Given the description of an element on the screen output the (x, y) to click on. 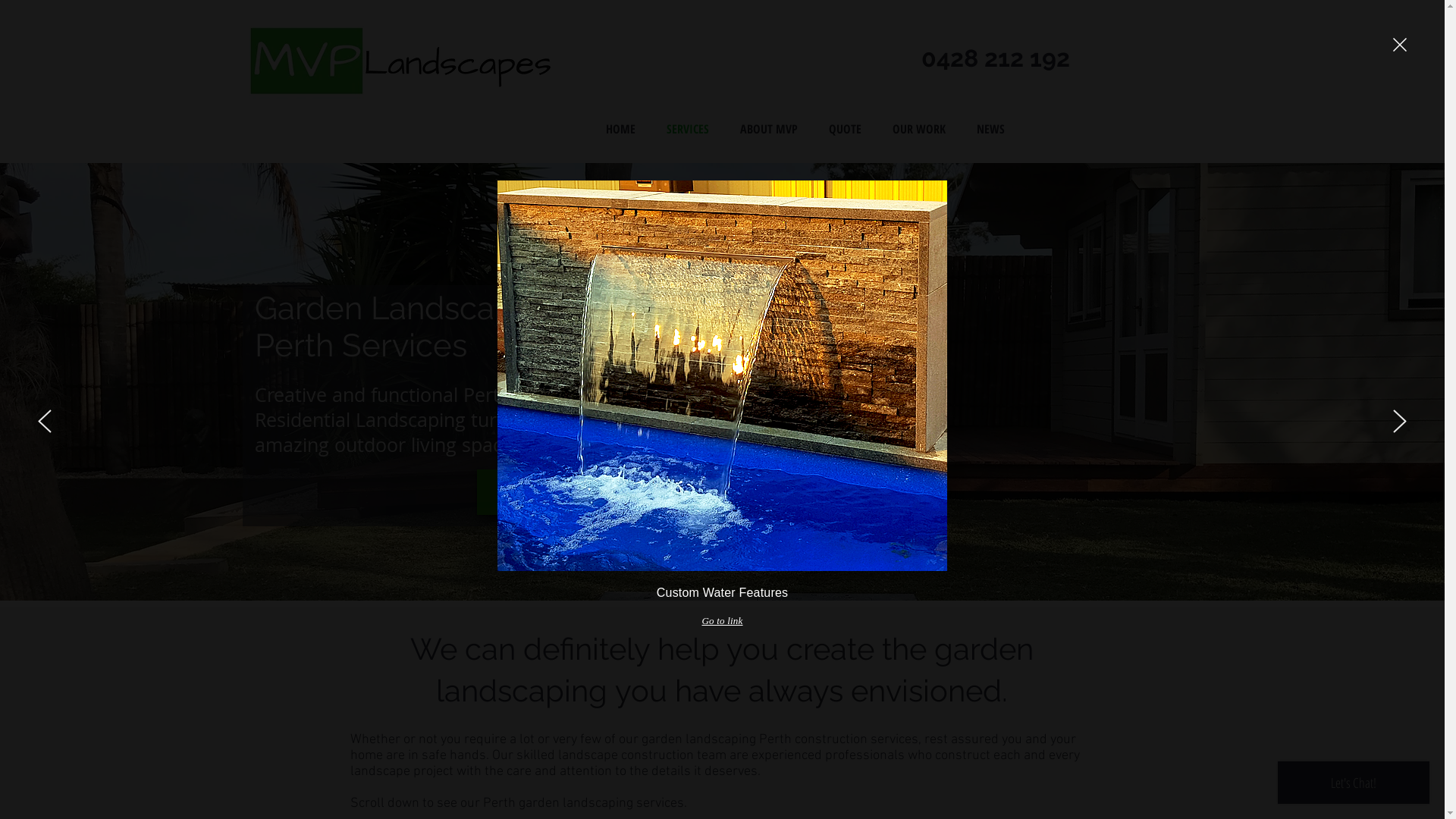
SERVICES Element type: text (687, 128)
Go to link Element type: text (721, 621)
QUOTE Element type: text (844, 128)
ABOUT MVP Element type: text (768, 128)
HOME Element type: text (620, 128)
OUR WORK Element type: text (918, 128)
GET A QUOTE Element type: text (565, 491)
NEWS Element type: text (990, 128)
